Given the description of an element on the screen output the (x, y) to click on. 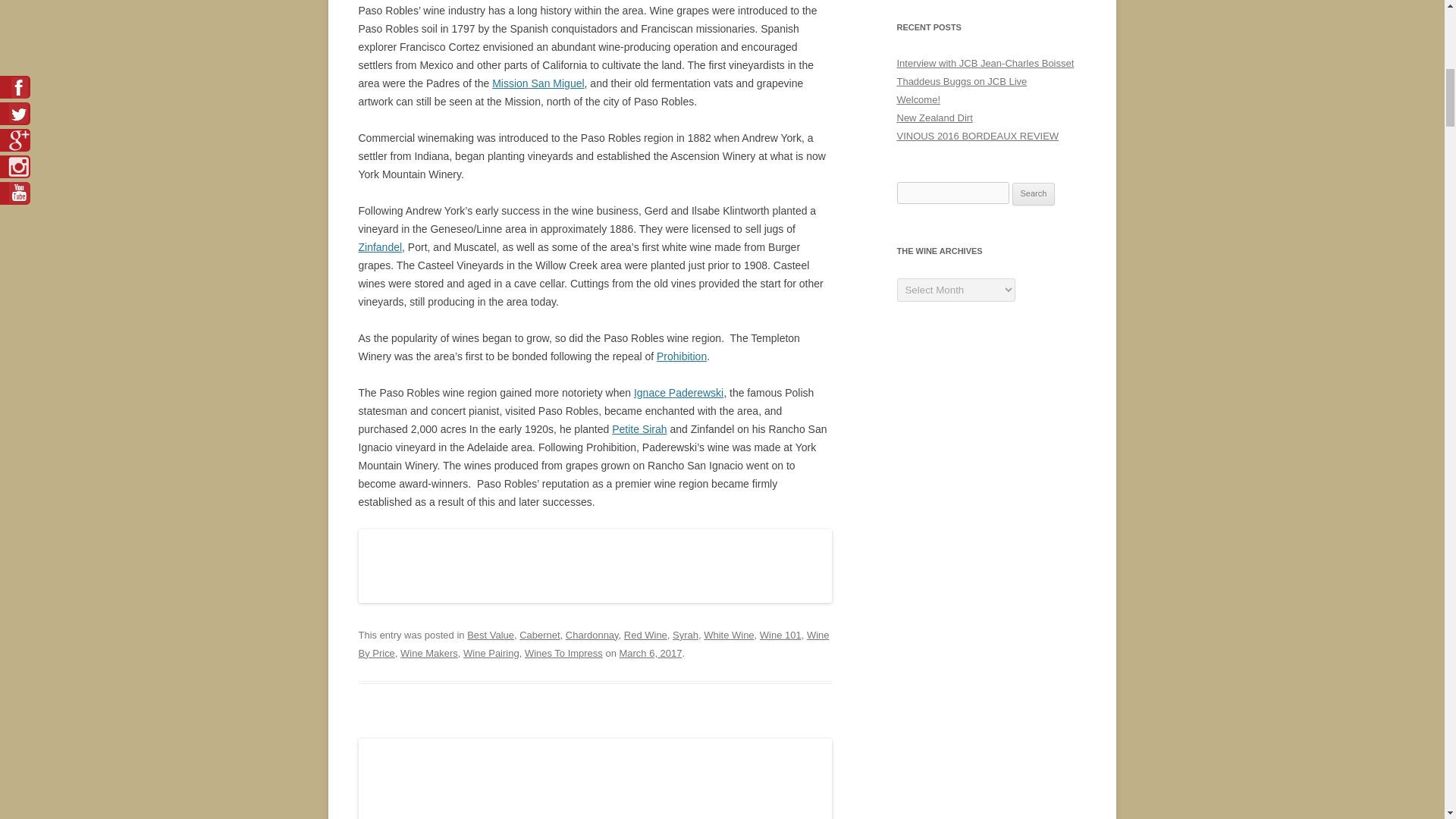
Mission San Miguel (537, 82)
A panoramic view of Paso Robles (594, 598)
Petite Sirah (638, 428)
Ignace Paderewski (678, 392)
Search (1033, 193)
Prohibition (681, 356)
Ignace Paderewski (678, 392)
Mission San Miguel (537, 82)
Zinfandel (379, 246)
Zinfandel (379, 246)
3:11 pm (649, 653)
Prohibition (681, 356)
